Given the description of an element on the screen output the (x, y) to click on. 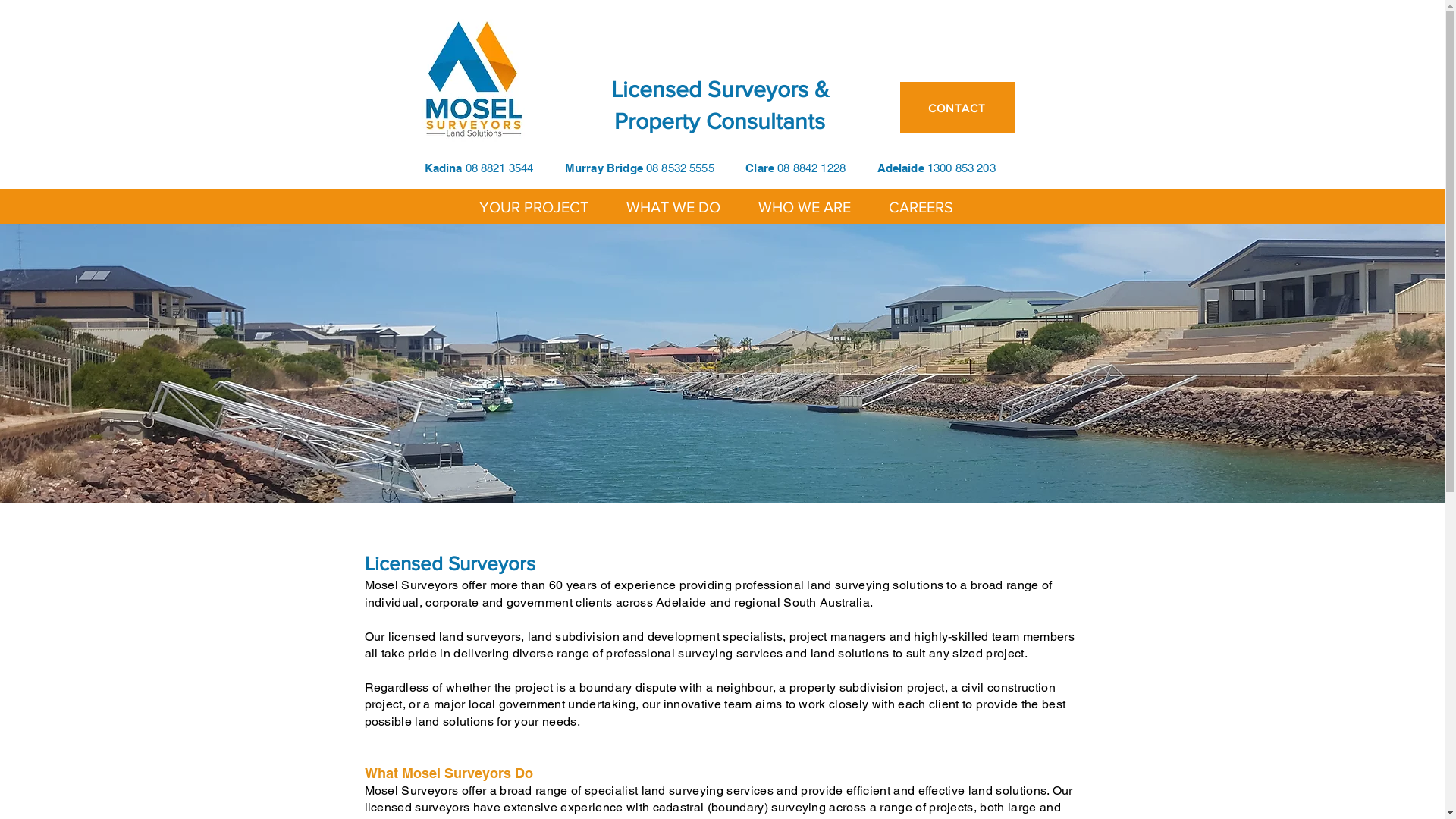
1300 853 203 Element type: text (961, 167)
08 8532 5555 Element type: text (680, 167)
08 8821 3544 Element type: text (499, 167)
08 8842 1228 Element type: text (811, 167)
CONTACT Element type: text (956, 107)
WHAT WE DO Element type: text (673, 205)
CAREERS Element type: text (920, 205)
WHO WE ARE Element type: text (804, 205)
